Given the description of an element on the screen output the (x, y) to click on. 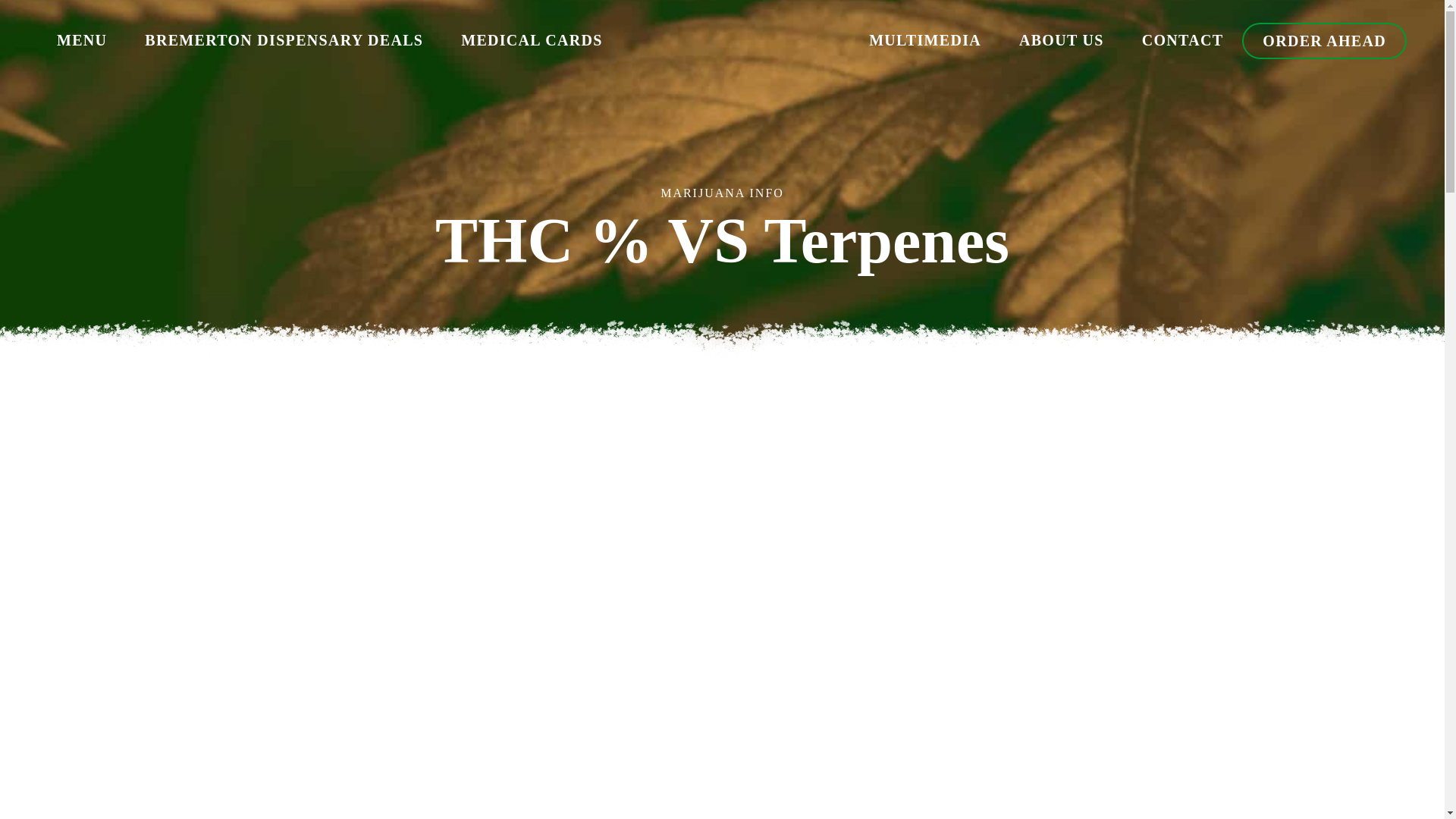
MEDICAL CARDS (531, 40)
MULTIMEDIA (925, 40)
MENU (81, 40)
BREMERTON DISPENSARY DEALS (283, 40)
ORDER AHEAD (1323, 40)
CONTACT (1182, 40)
ABOUT US (1061, 40)
